Given the description of an element on the screen output the (x, y) to click on. 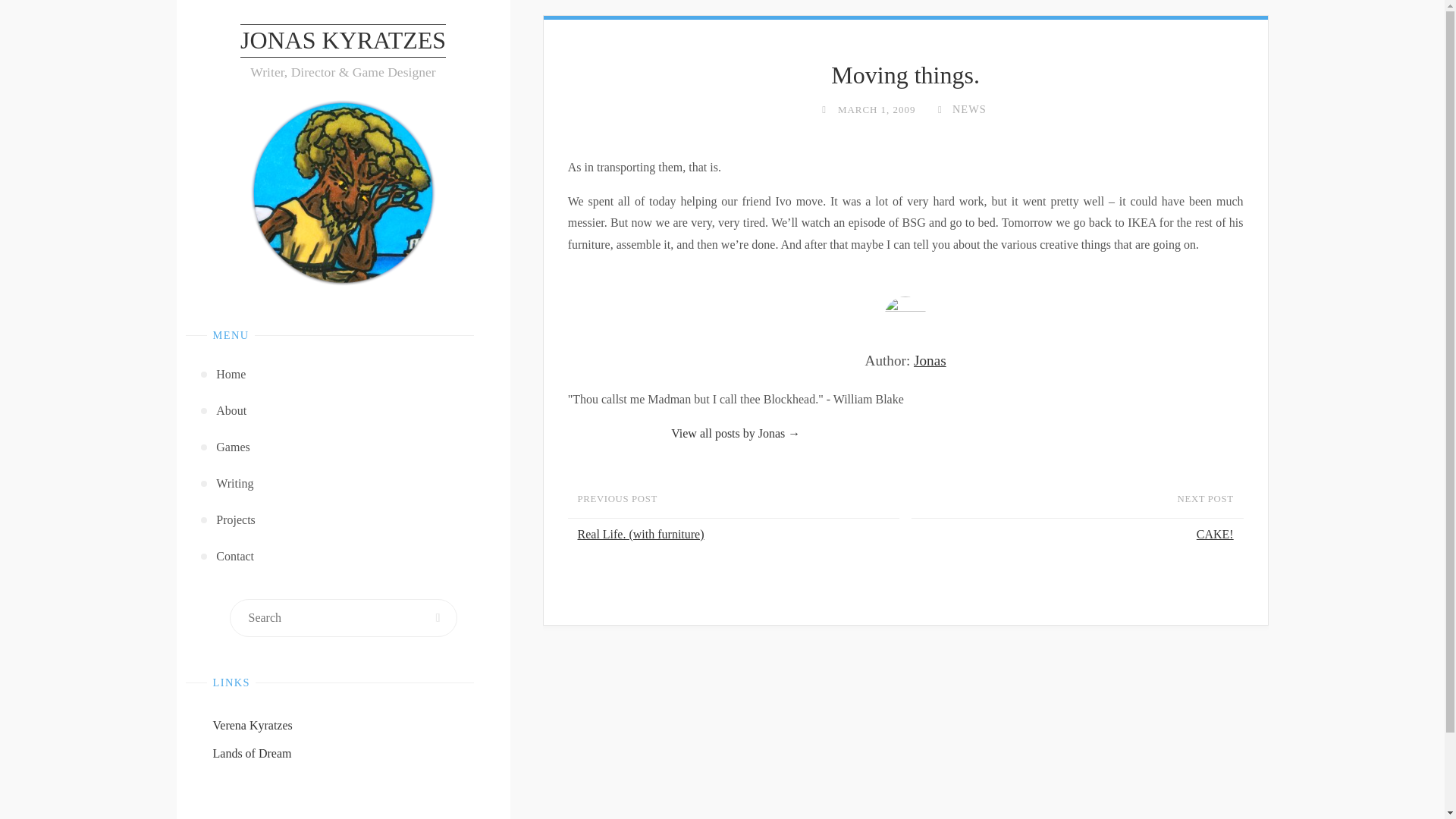
About (344, 411)
NEWS (968, 109)
CAKE! (1074, 534)
Writing (344, 484)
Home (344, 374)
JONAS KYRATZES (342, 40)
Lands of Dream (251, 753)
Verena Kyratzes (252, 725)
Categories (940, 109)
Date (823, 109)
Games (344, 447)
Contact (344, 556)
Projects (344, 520)
